Given the description of an element on the screen output the (x, y) to click on. 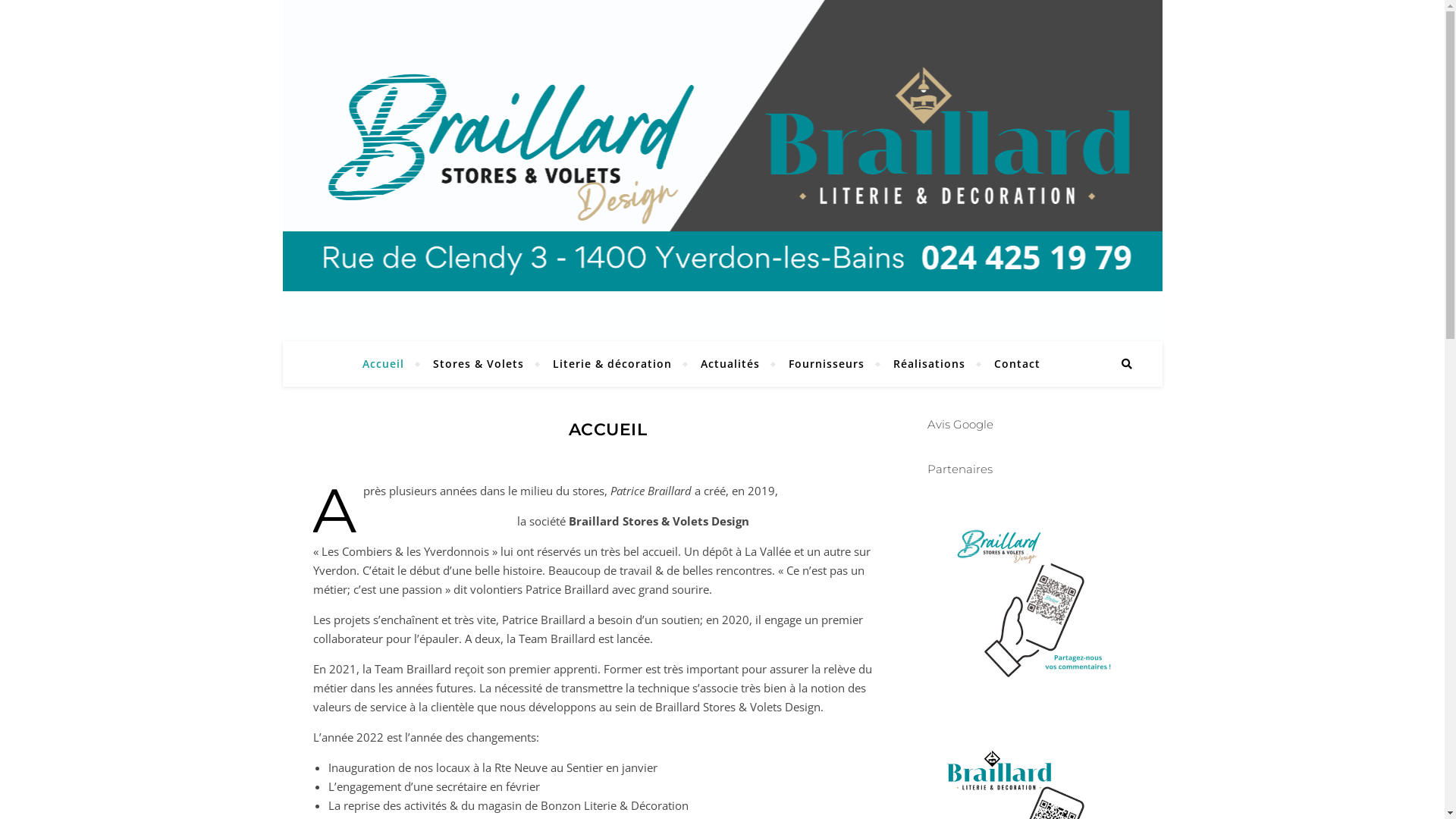
Partenaires Element type: text (958, 468)
Stores & Volets Element type: text (478, 363)
Contact Element type: text (1010, 363)
Fournisseurs Element type: text (826, 363)
Avis Google Element type: text (959, 424)
Accueil Element type: text (389, 363)
